Given the description of an element on the screen output the (x, y) to click on. 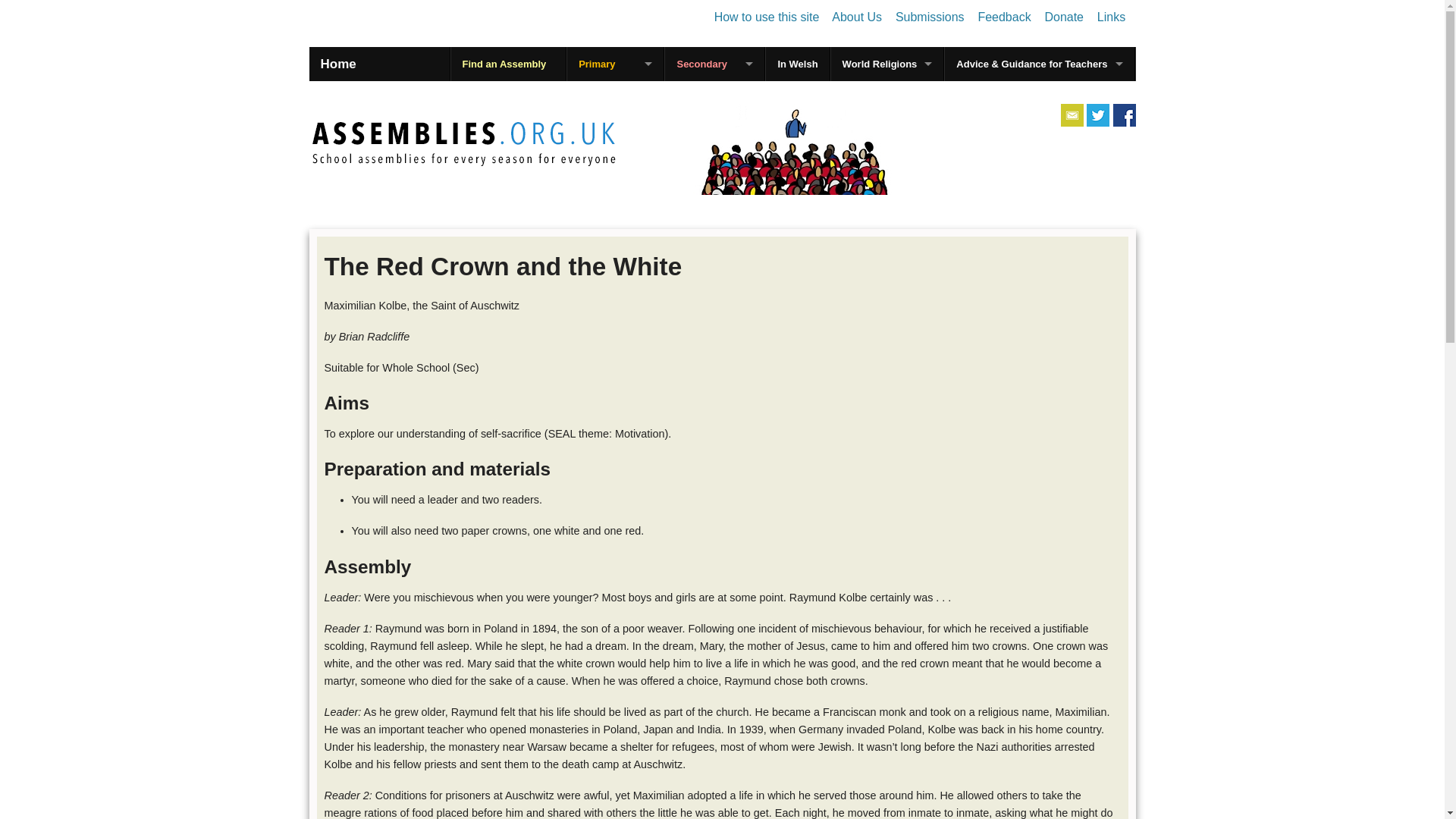
Primary         (615, 63)
Links (1111, 16)
Find an Assembly    (508, 63)
Share about us on Facebook (1124, 115)
About Us (856, 16)
Share this site by emailing your colleagues (1072, 115)
World Religions (887, 63)
Feedback (1003, 16)
Find out more about Assemblies on Twitter (1097, 115)
Donate (1063, 16)
Secondary     (714, 63)
How to use this site (766, 16)
Submissions (929, 16)
Home (338, 63)
